Given the description of an element on the screen output the (x, y) to click on. 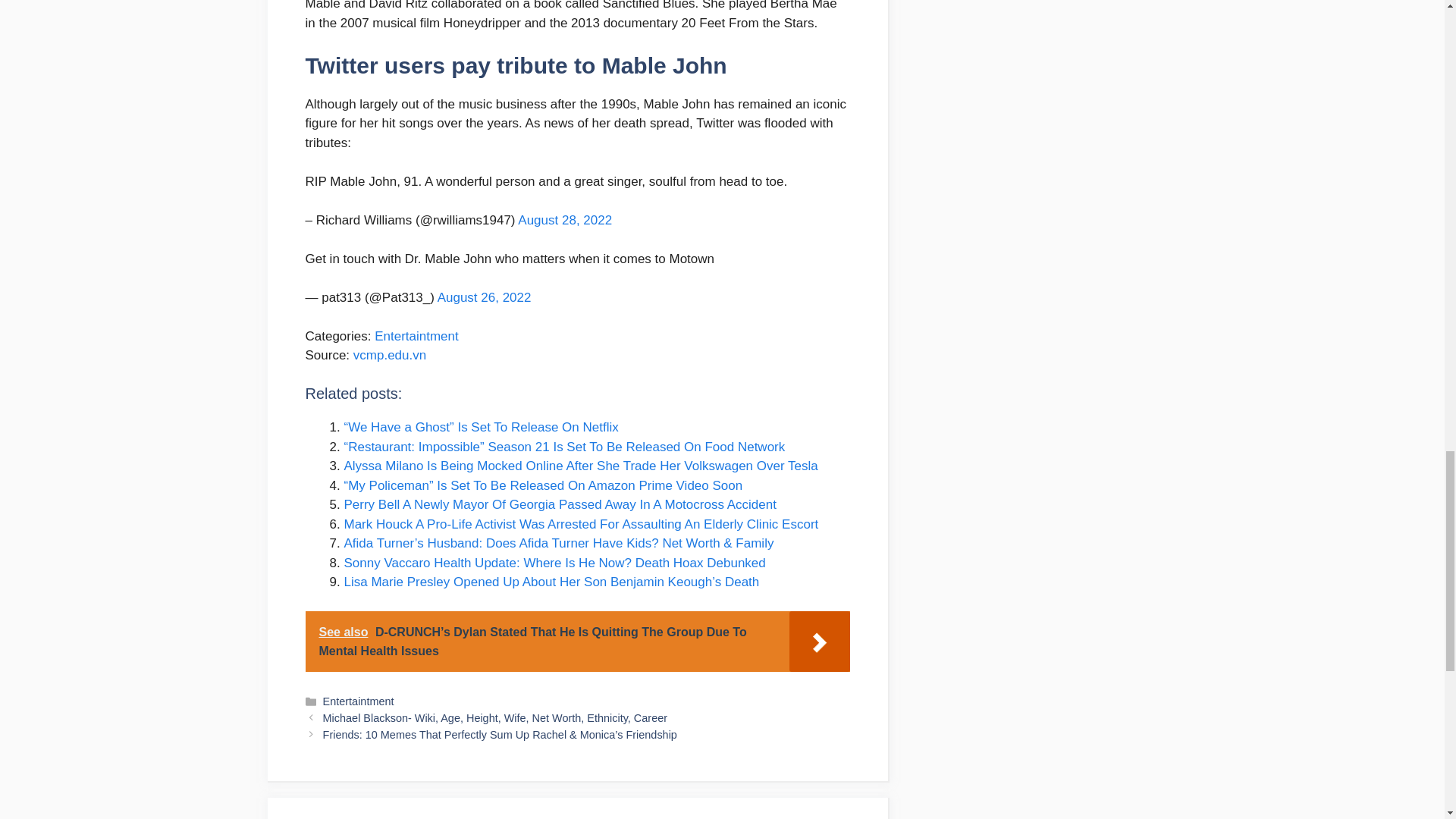
Entertaintment (358, 701)
August 26, 2022 (484, 297)
vcmp.edu.vn (389, 355)
